Given the description of an element on the screen output the (x, y) to click on. 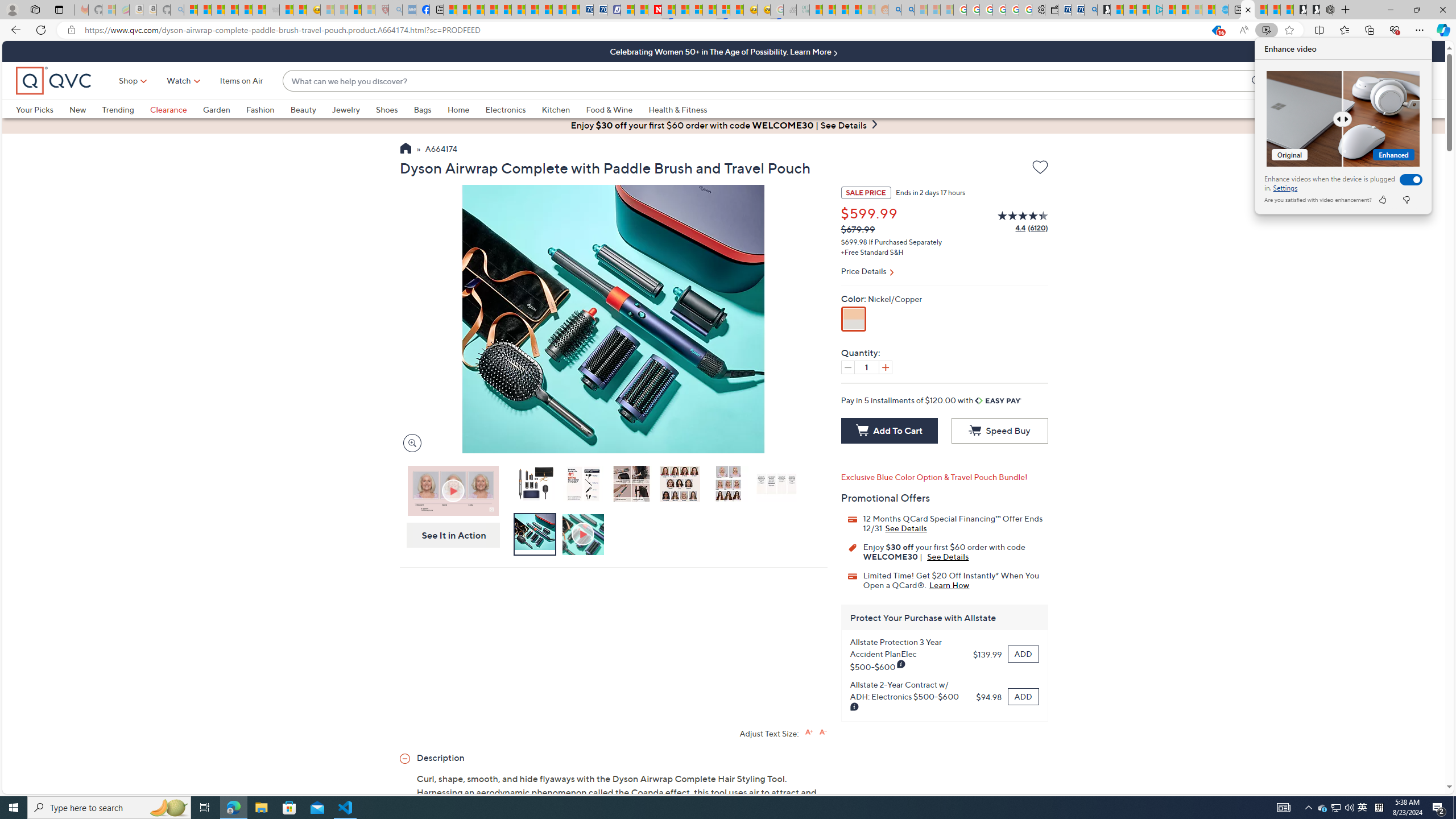
Shop (129, 80)
Clearance (168, 109)
Pay in 5 installments of $120.00 with Easy Pay (931, 399)
Clearance (175, 109)
